Given the description of an element on the screen output the (x, y) to click on. 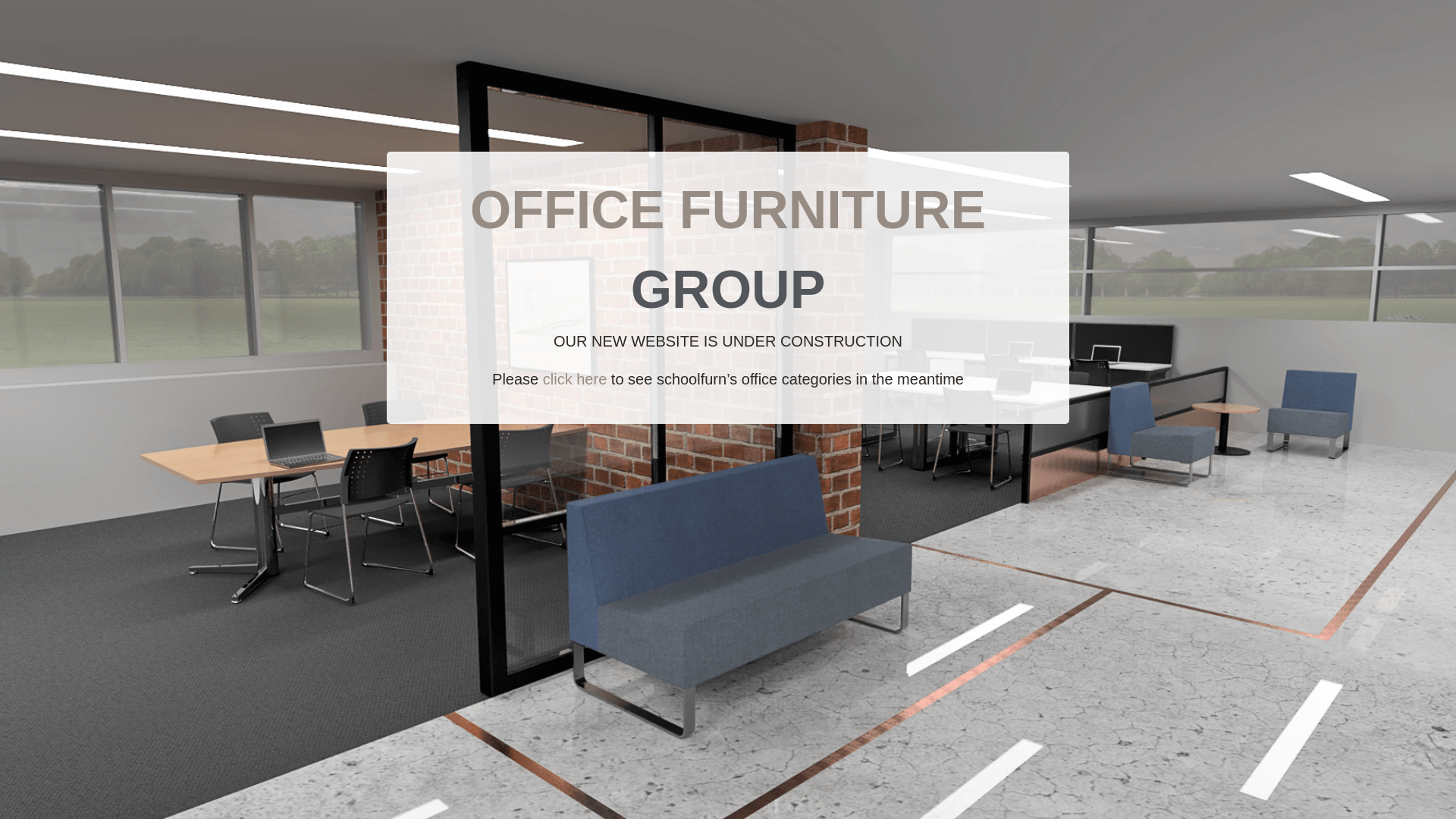
click here Element type: text (574, 378)
